Given the description of an element on the screen output the (x, y) to click on. 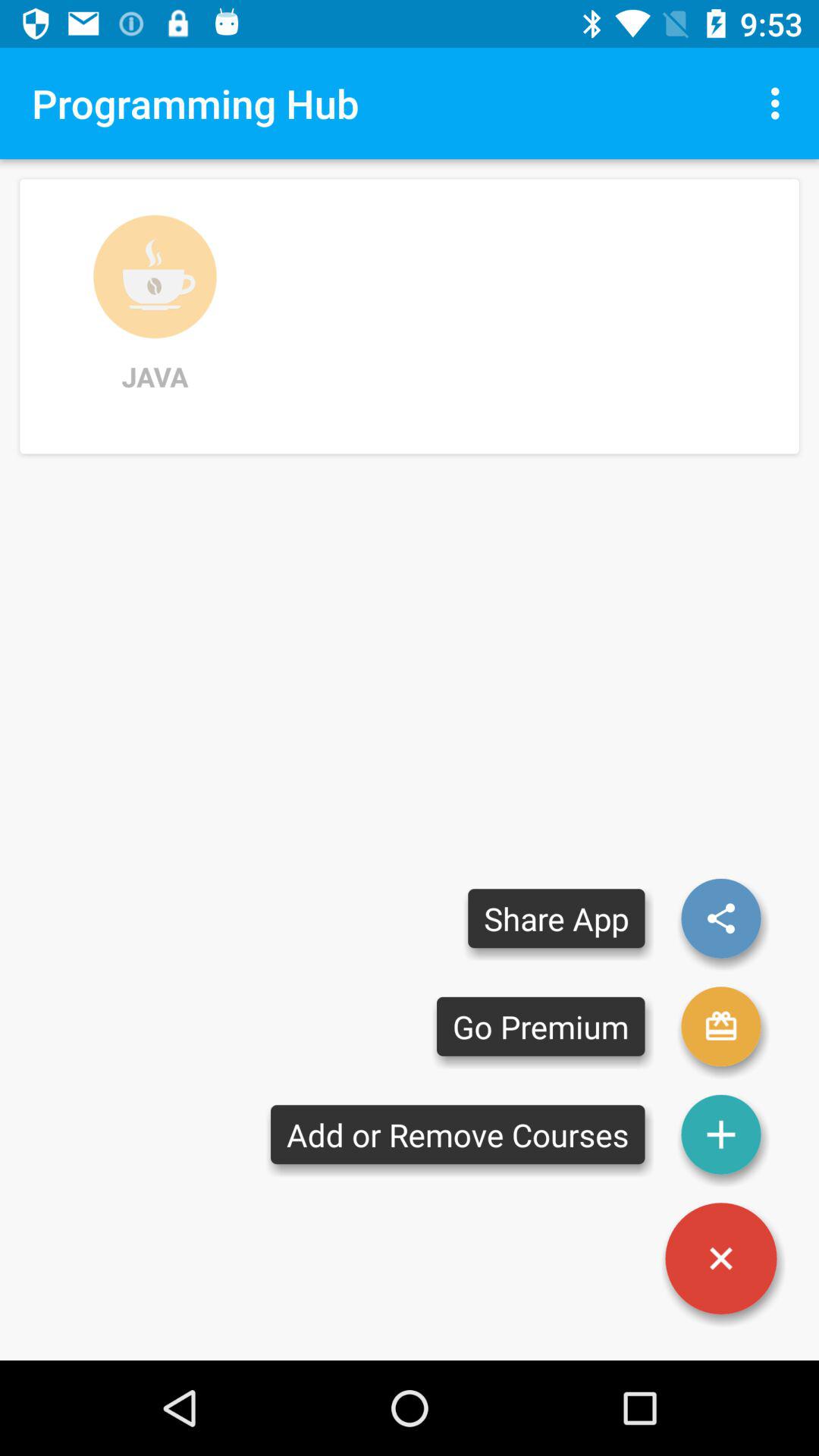
flip until go premium (540, 1026)
